Given the description of an element on the screen output the (x, y) to click on. 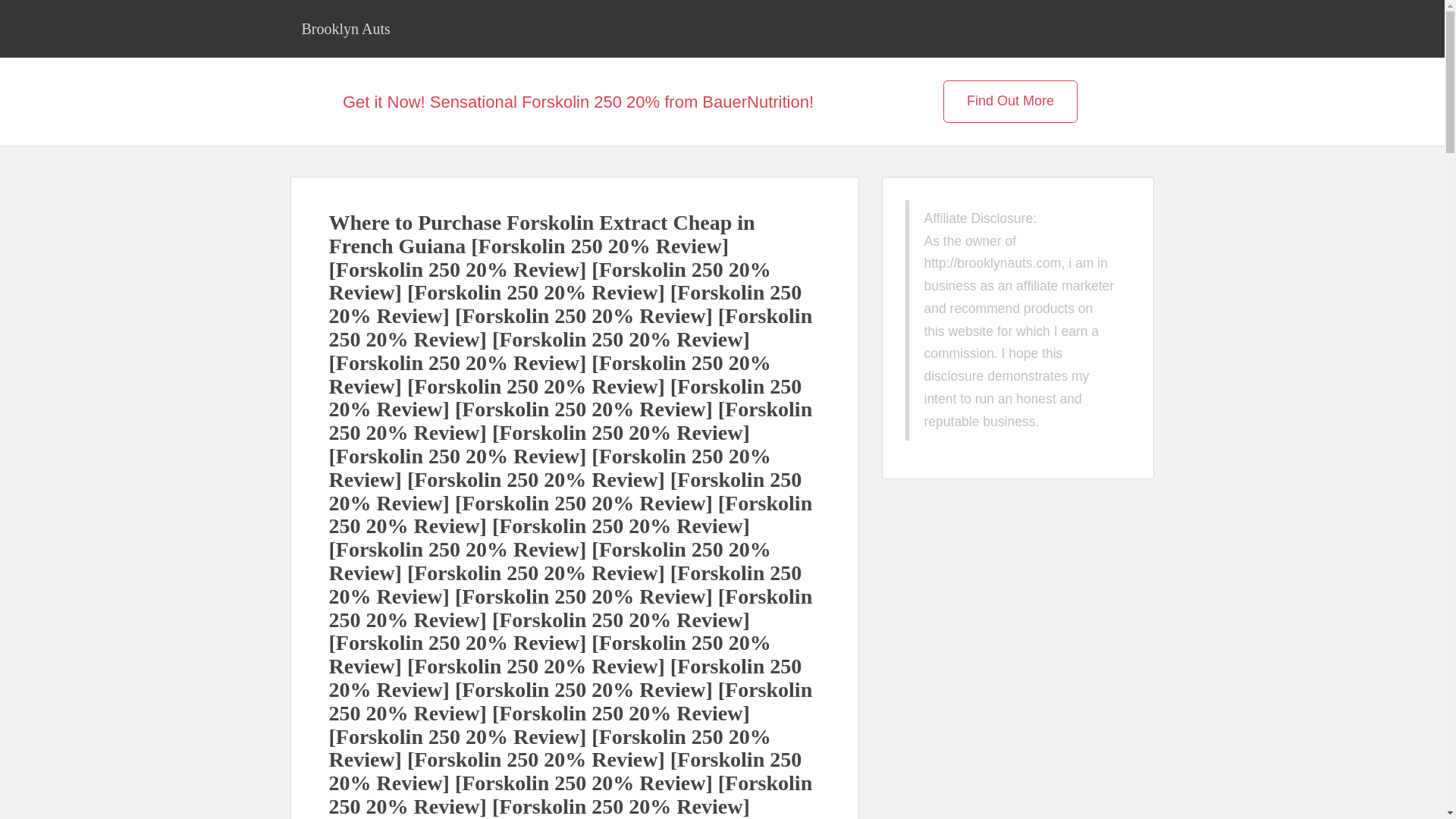
Brooklyn Auts (345, 28)
Brooklyn Auts - Health and Beauty Products (345, 28)
